Given the description of an element on the screen output the (x, y) to click on. 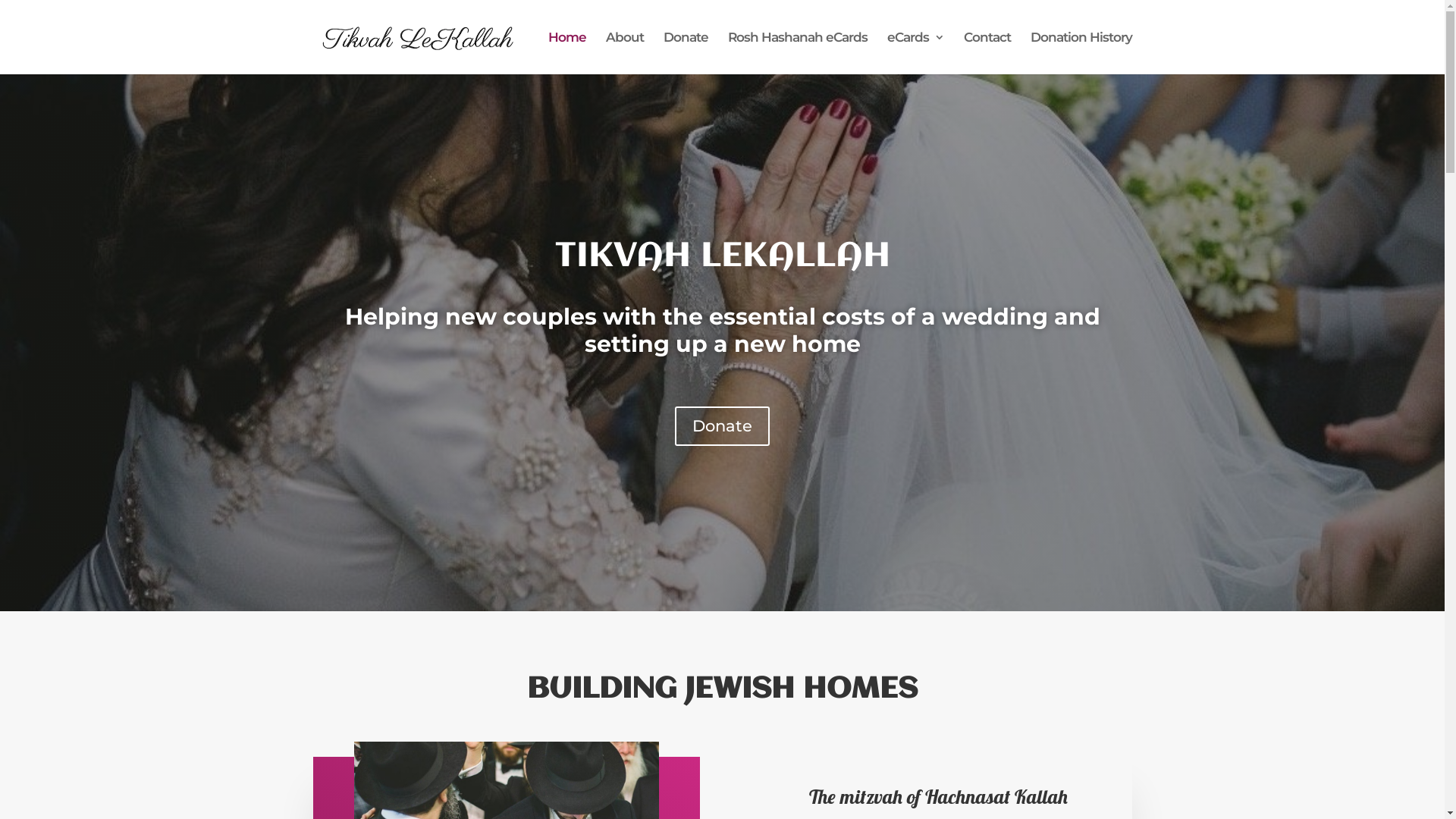
Rosh Hashanah eCards Element type: text (797, 52)
Donate Element type: text (721, 425)
Donation History Element type: text (1080, 52)
Donate Element type: text (684, 52)
Home Element type: text (566, 52)
Contact Element type: text (986, 52)
eCards Element type: text (915, 52)
About Element type: text (624, 52)
